Given the description of an element on the screen output the (x, y) to click on. 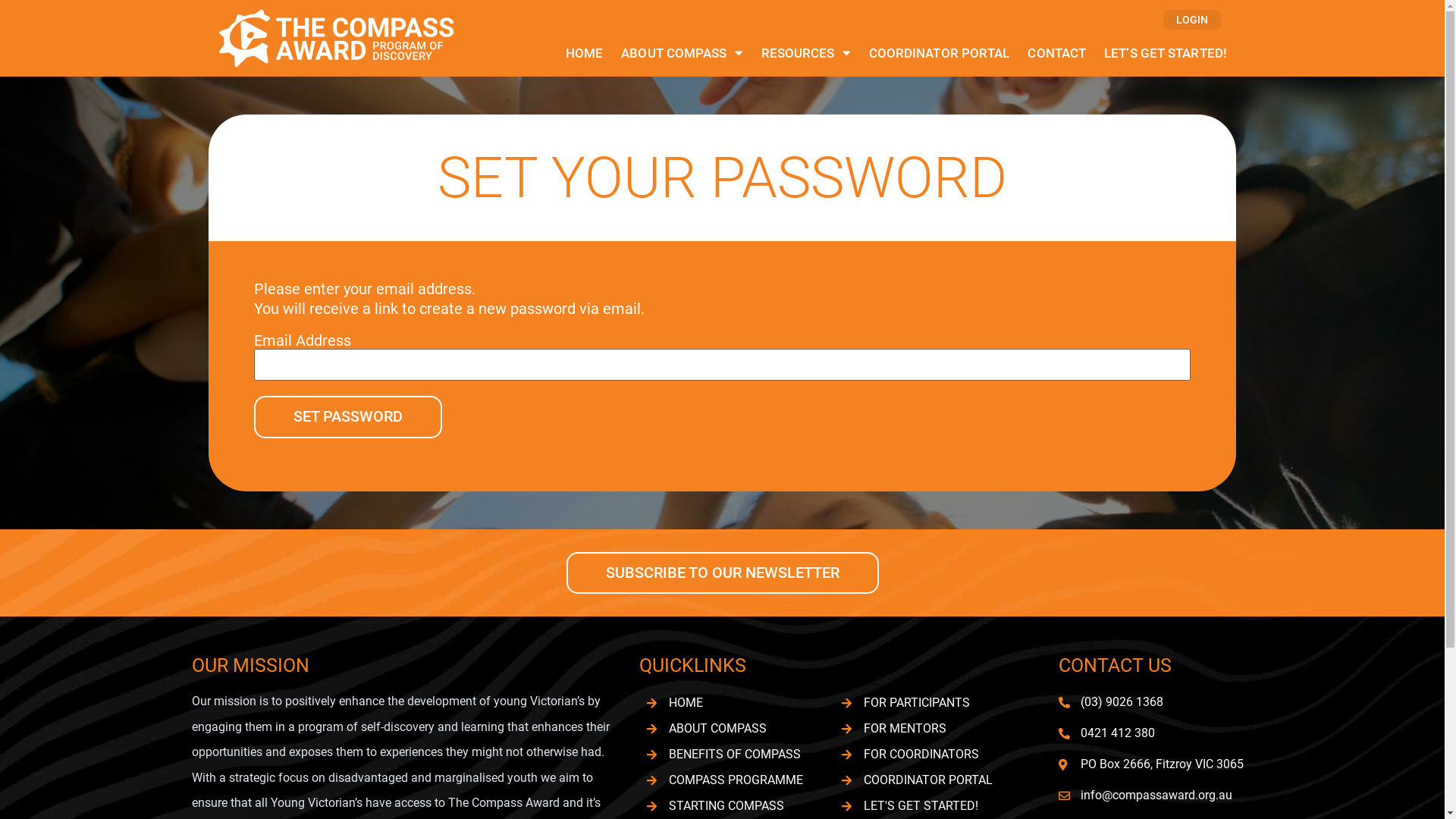
LET'S GET STARTED! Element type: text (931, 805)
BENEFITS OF COMPASS Element type: text (736, 754)
STARTING COMPASS Element type: text (736, 805)
(03) 9026 1368 Element type: text (1153, 702)
SUBSCRIBE TO OUR NEWSLETTER Element type: text (721, 572)
HOME Element type: text (583, 52)
FOR MENTORS Element type: text (931, 728)
COORDINATOR PORTAL Element type: text (931, 780)
COMPASS PROGRAMME Element type: text (736, 780)
COORDINATOR PORTAL Element type: text (939, 52)
RESOURCES Element type: text (805, 52)
ABOUT COMPASS Element type: text (681, 52)
0421 412 380 Element type: text (1153, 733)
CONTACT Element type: text (1056, 52)
LOGIN Element type: text (1191, 19)
ABOUT COMPASS Element type: text (736, 728)
FOR PARTICIPANTS Element type: text (931, 702)
HOME Element type: text (736, 702)
 Set password Element type: text (348, 416)
FOR COORDINATORS Element type: text (931, 754)
